Given the description of an element on the screen output the (x, y) to click on. 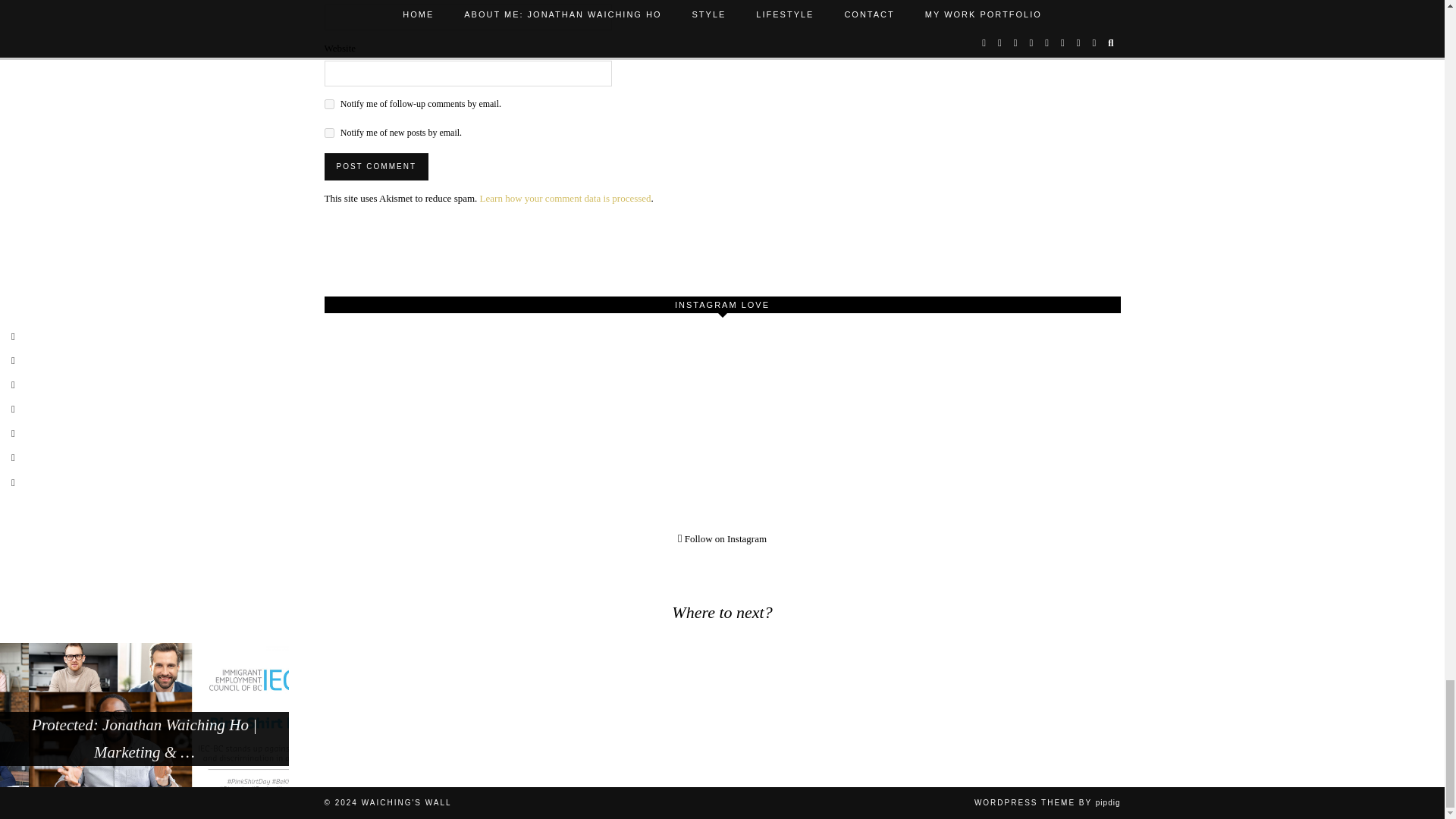
Post Comment (376, 166)
subscribe (329, 103)
subscribe (329, 132)
